Given the description of an element on the screen output the (x, y) to click on. 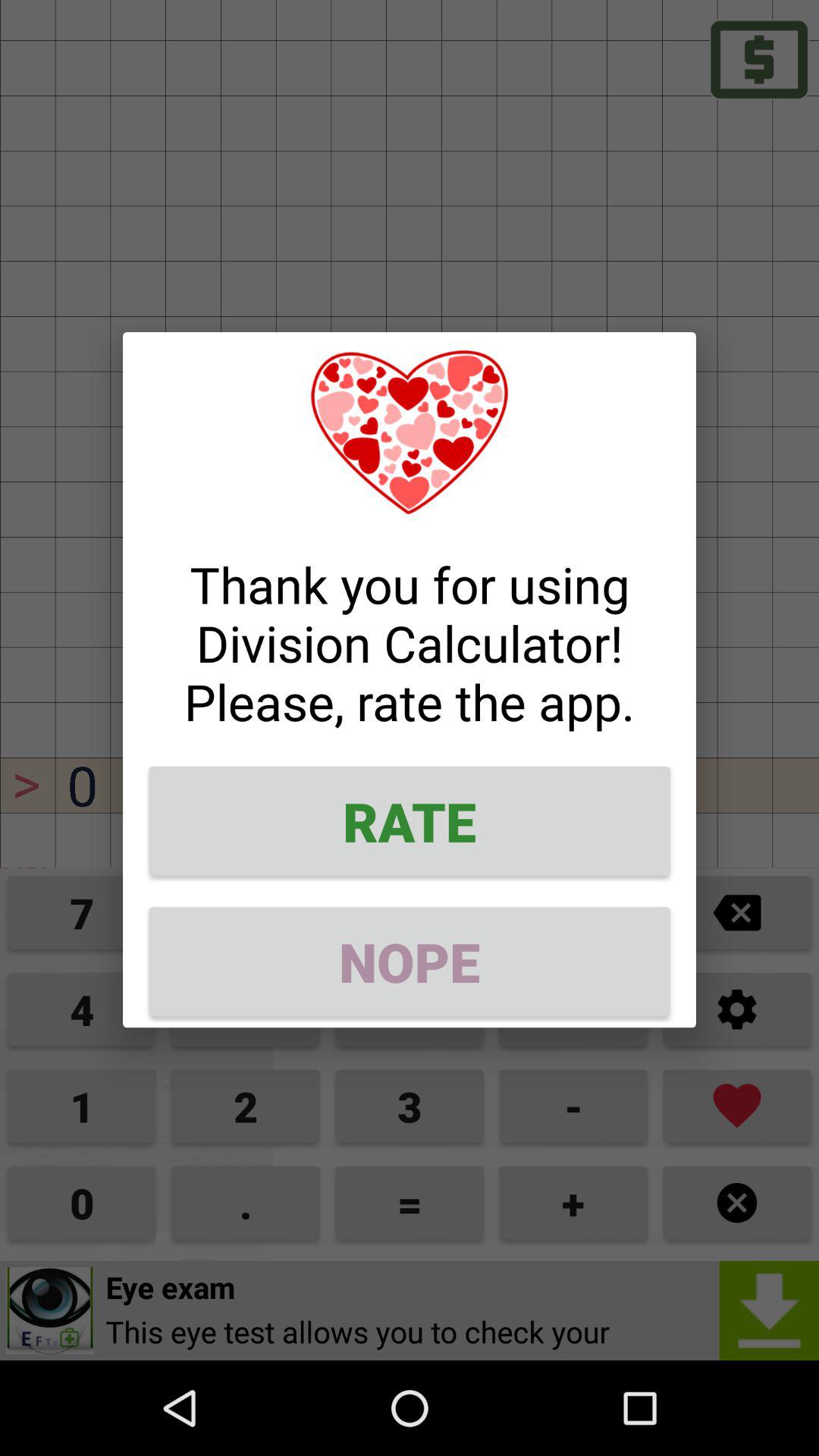
tap item below the rate item (409, 961)
